Given the description of an element on the screen output the (x, y) to click on. 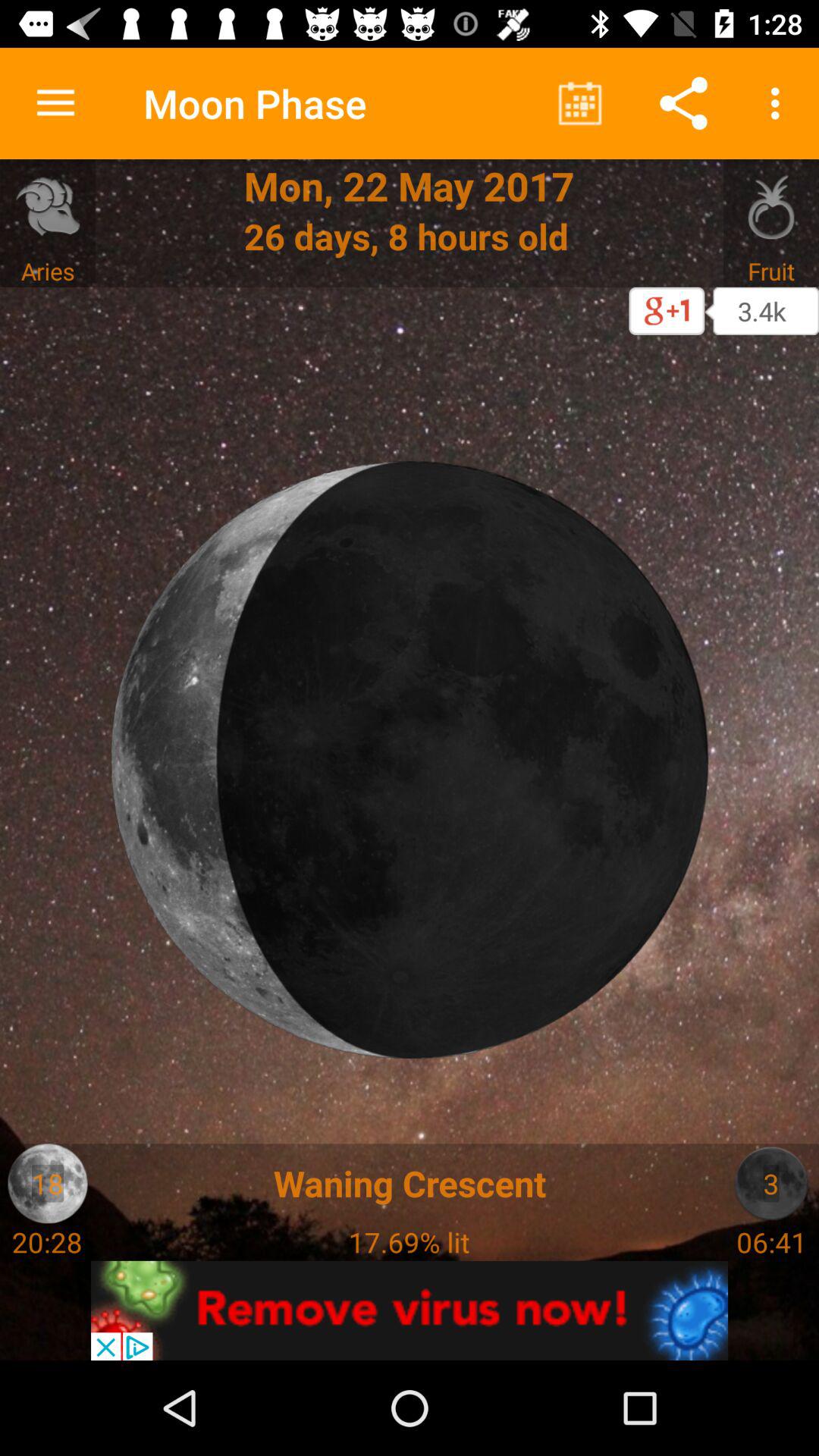
3 (771, 1183)
